Given the description of an element on the screen output the (x, y) to click on. 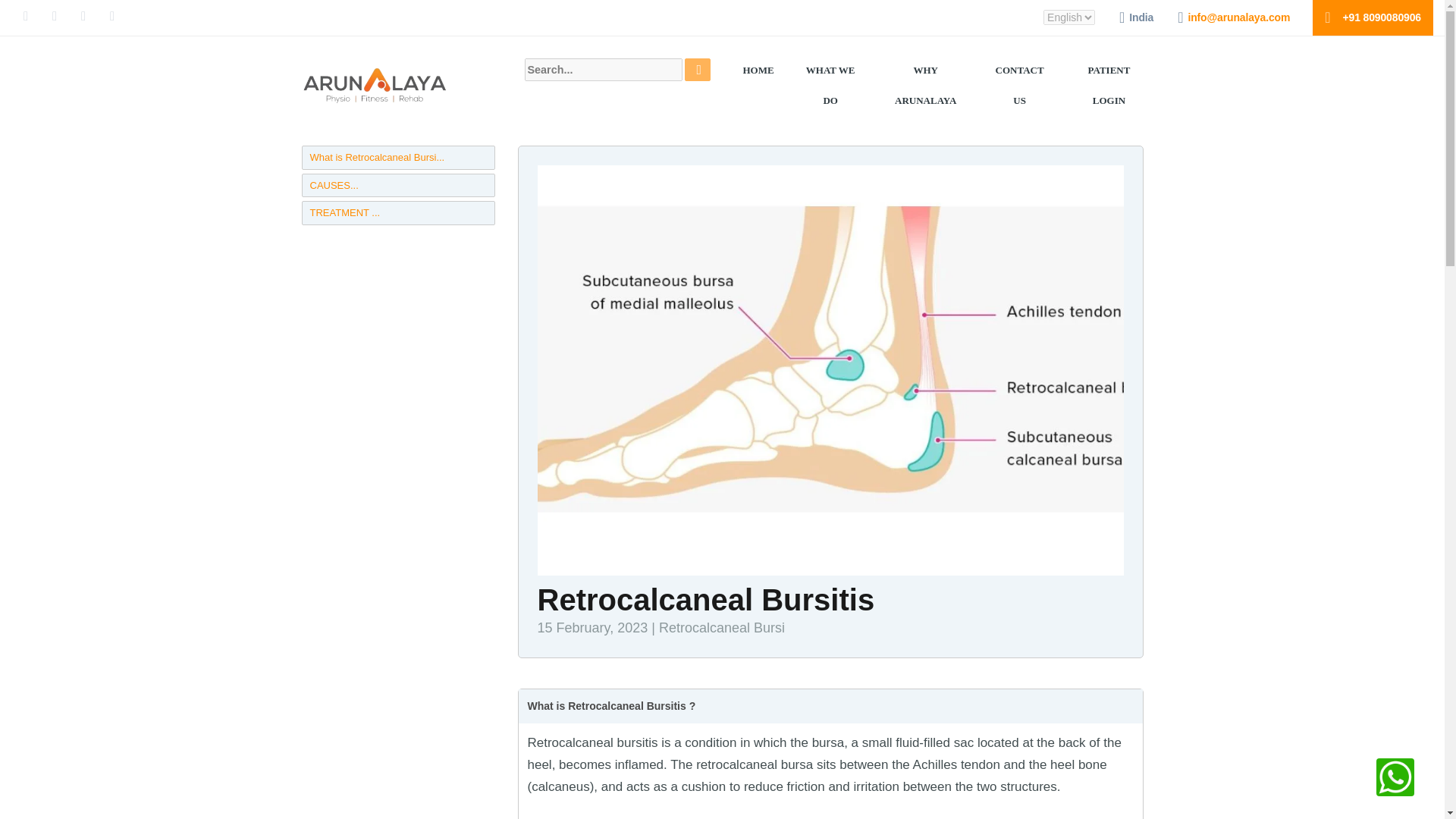
CAUSES... (398, 184)
TREATMENT ... (398, 212)
What is Retrocalcaneal Bursi... (398, 157)
